Given the description of an element on the screen output the (x, y) to click on. 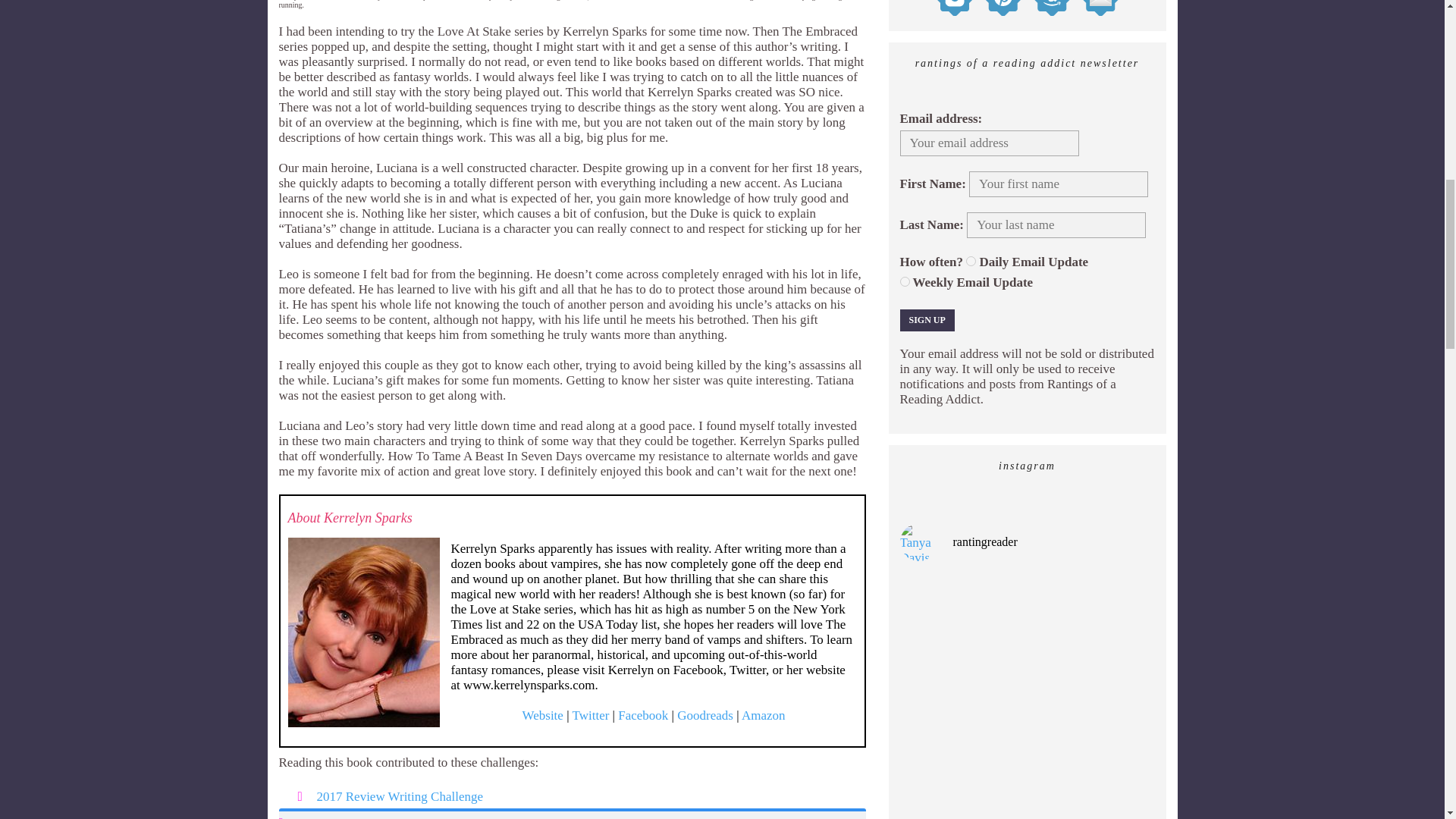
Weekly Email Update (903, 281)
Daily Email Update (970, 261)
Sign up (926, 320)
